Given the description of an element on the screen output the (x, y) to click on. 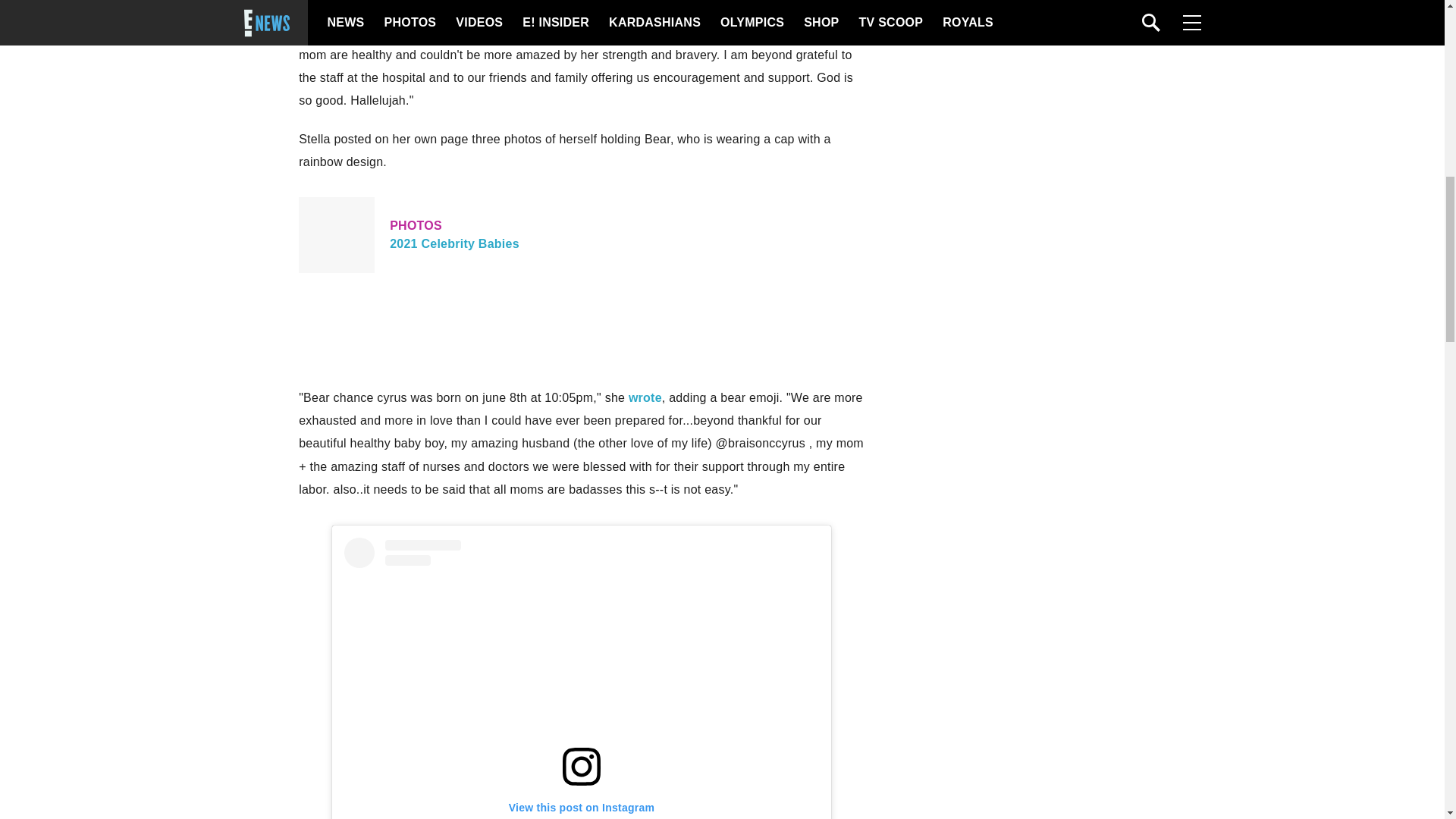
View this post on Instagram (580, 678)
wrote (581, 234)
